Given the description of an element on the screen output the (x, y) to click on. 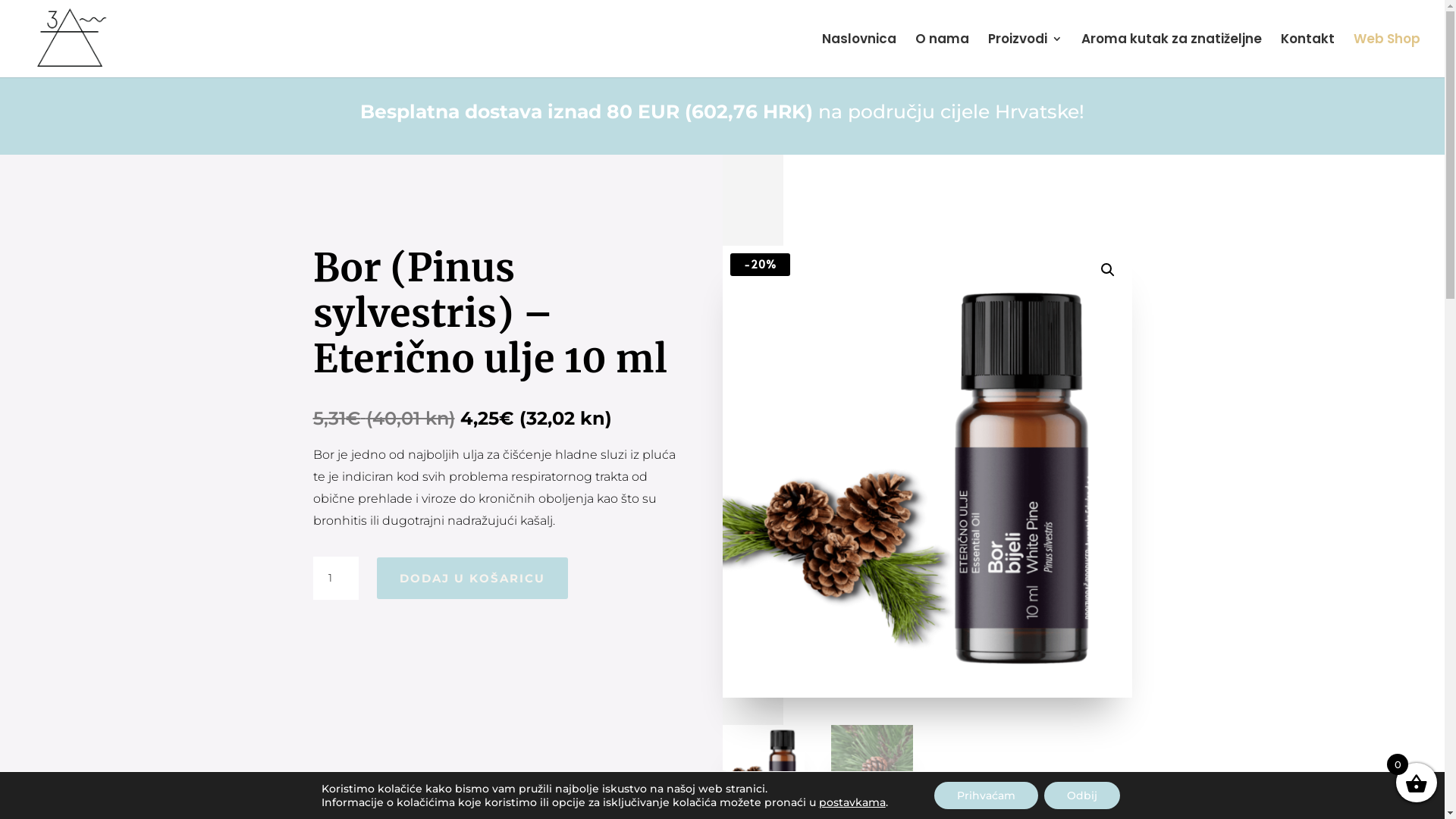
Proizvodi Element type: text (1025, 55)
Odbij Element type: text (1082, 795)
Naslovnica Element type: text (859, 55)
O nama Element type: text (942, 55)
Kontakt Element type: text (1307, 55)
Web Shop Element type: text (1386, 55)
